Given the description of an element on the screen output the (x, y) to click on. 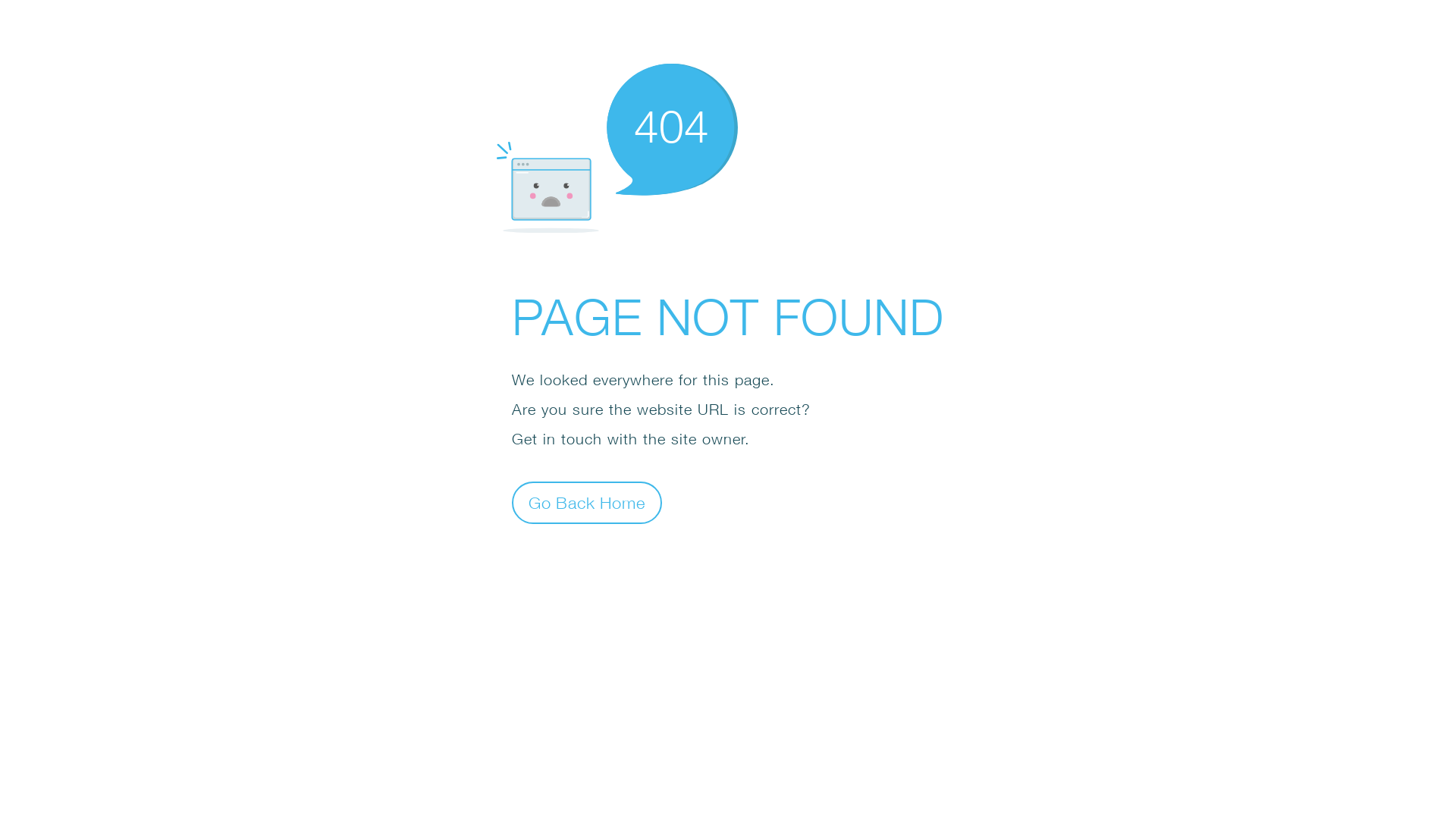
Go Back Home Element type: text (586, 502)
